Given the description of an element on the screen output the (x, y) to click on. 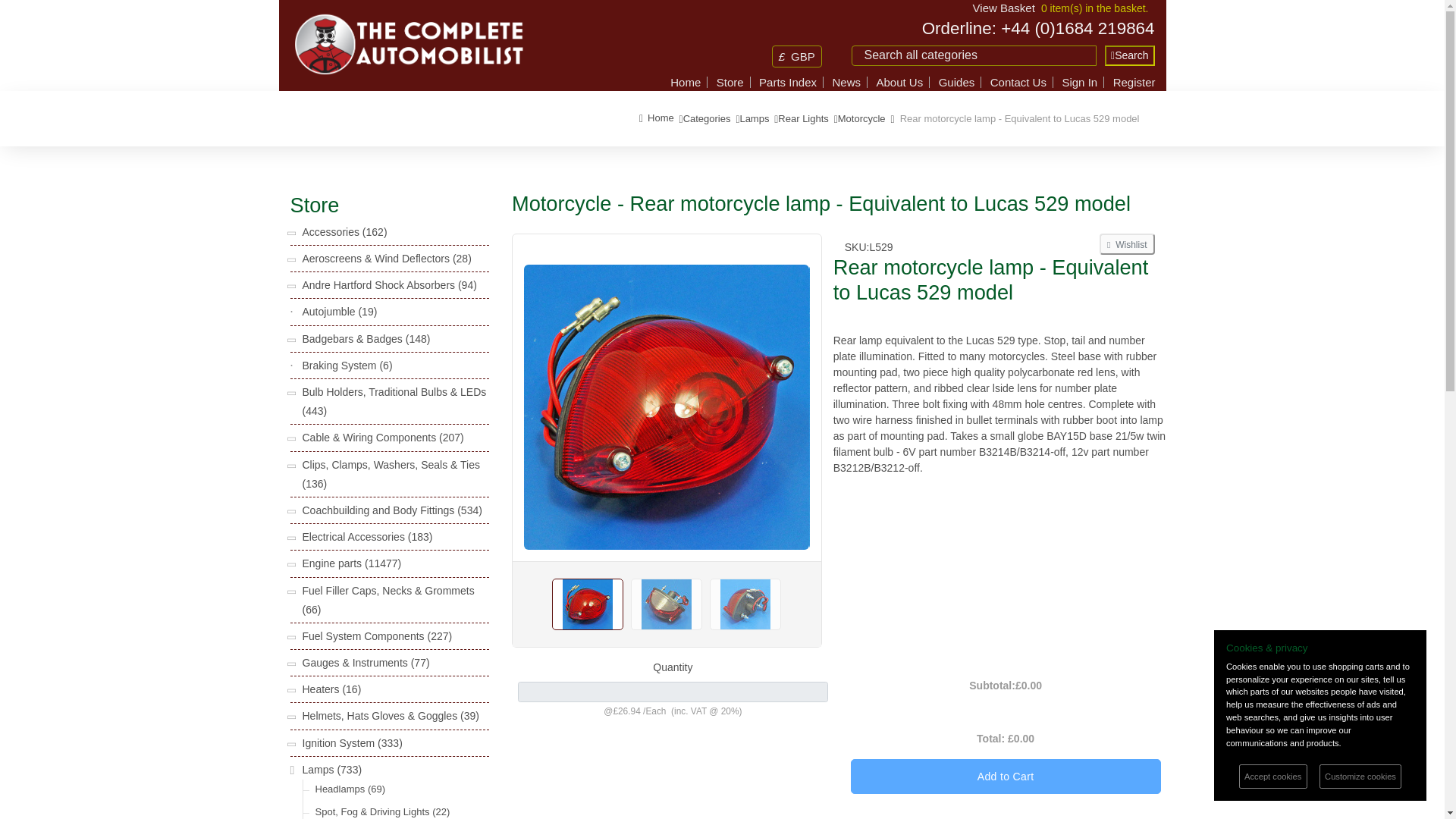
View Guides (899, 81)
Guides (957, 81)
View Contact Us (1018, 81)
Rear Lights - Lamps - Classic Car Parts (802, 118)
Register (1134, 81)
View Home (684, 81)
Parts Index (787, 81)
Lamps - Classic Car Parts (753, 118)
View Basket (1003, 7)
Store (730, 81)
Classic Car Parts (706, 118)
Sign In (1079, 81)
View Store (730, 81)
View Guides (957, 81)
